Given the description of an element on the screen output the (x, y) to click on. 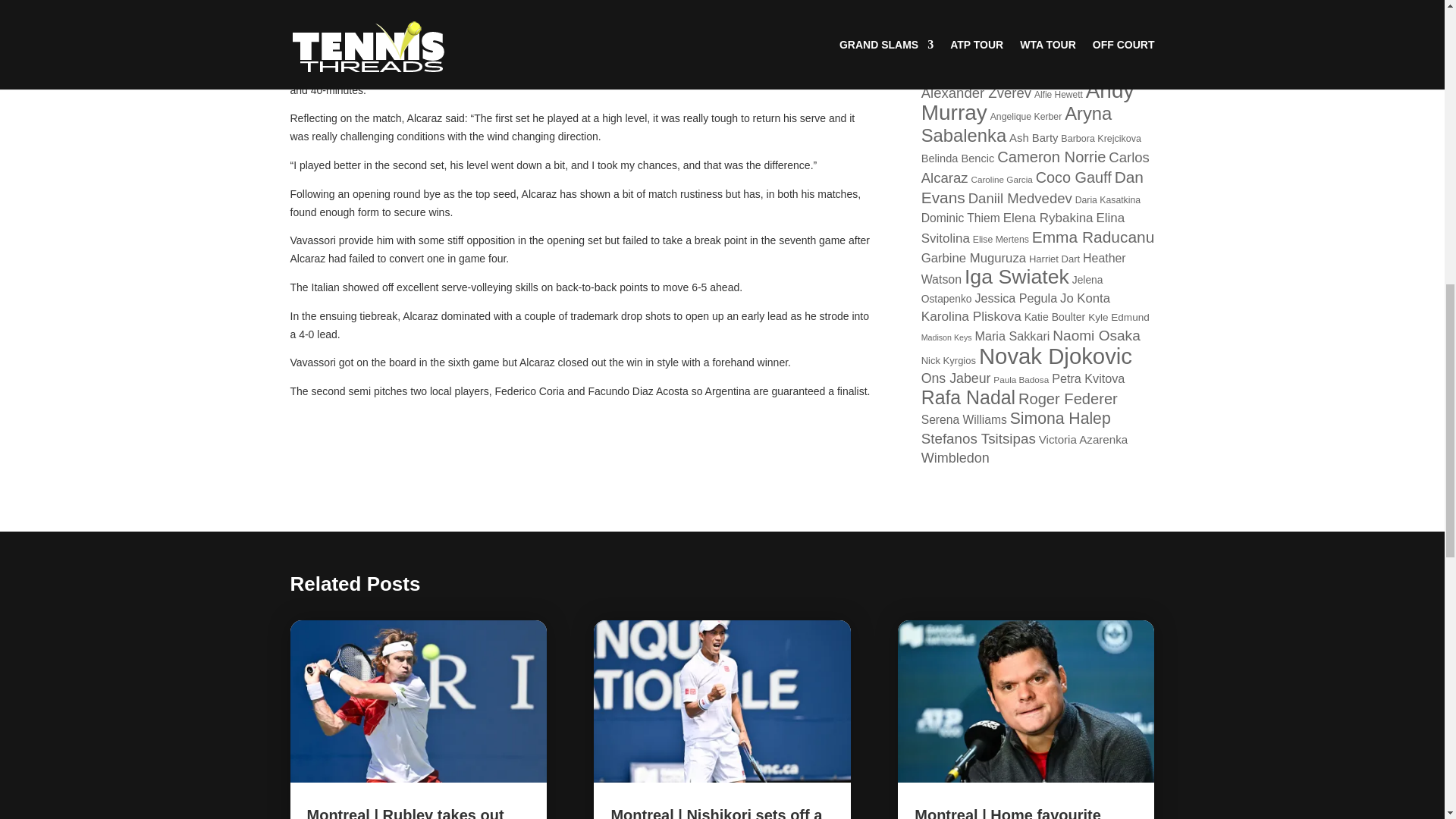
Andy Murray (1027, 101)
Angelique Kerber (1026, 116)
Aryna Sabalenka (1016, 124)
Ash Barty (1033, 137)
Alfie Hewett (1058, 94)
Alexander Zverev (975, 92)
Barbora Krejcikova (1101, 138)
